Given the description of an element on the screen output the (x, y) to click on. 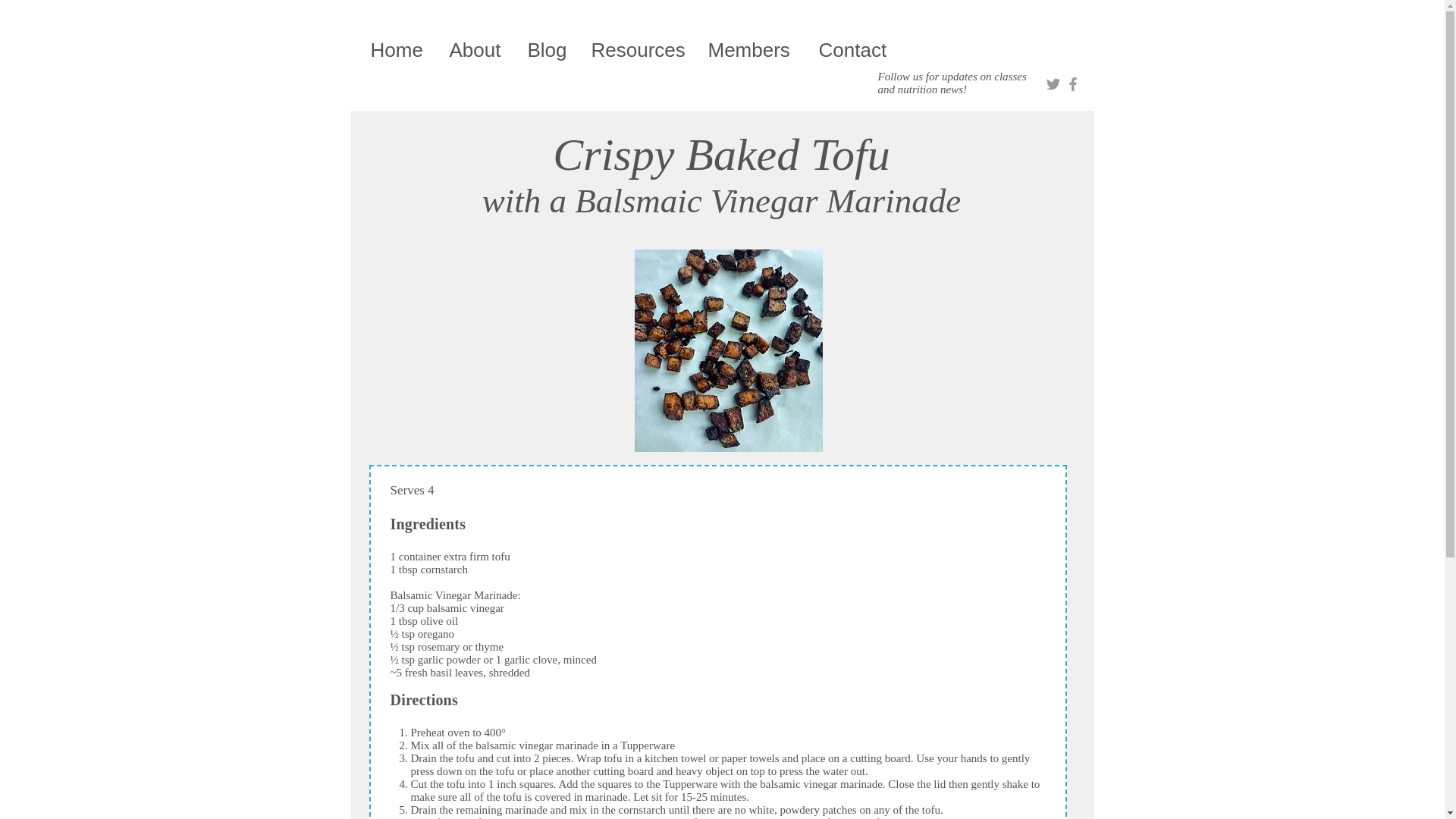
Resources (637, 49)
About (477, 49)
Blog (547, 49)
Contact (852, 49)
Home (398, 49)
